Given the description of an element on the screen output the (x, y) to click on. 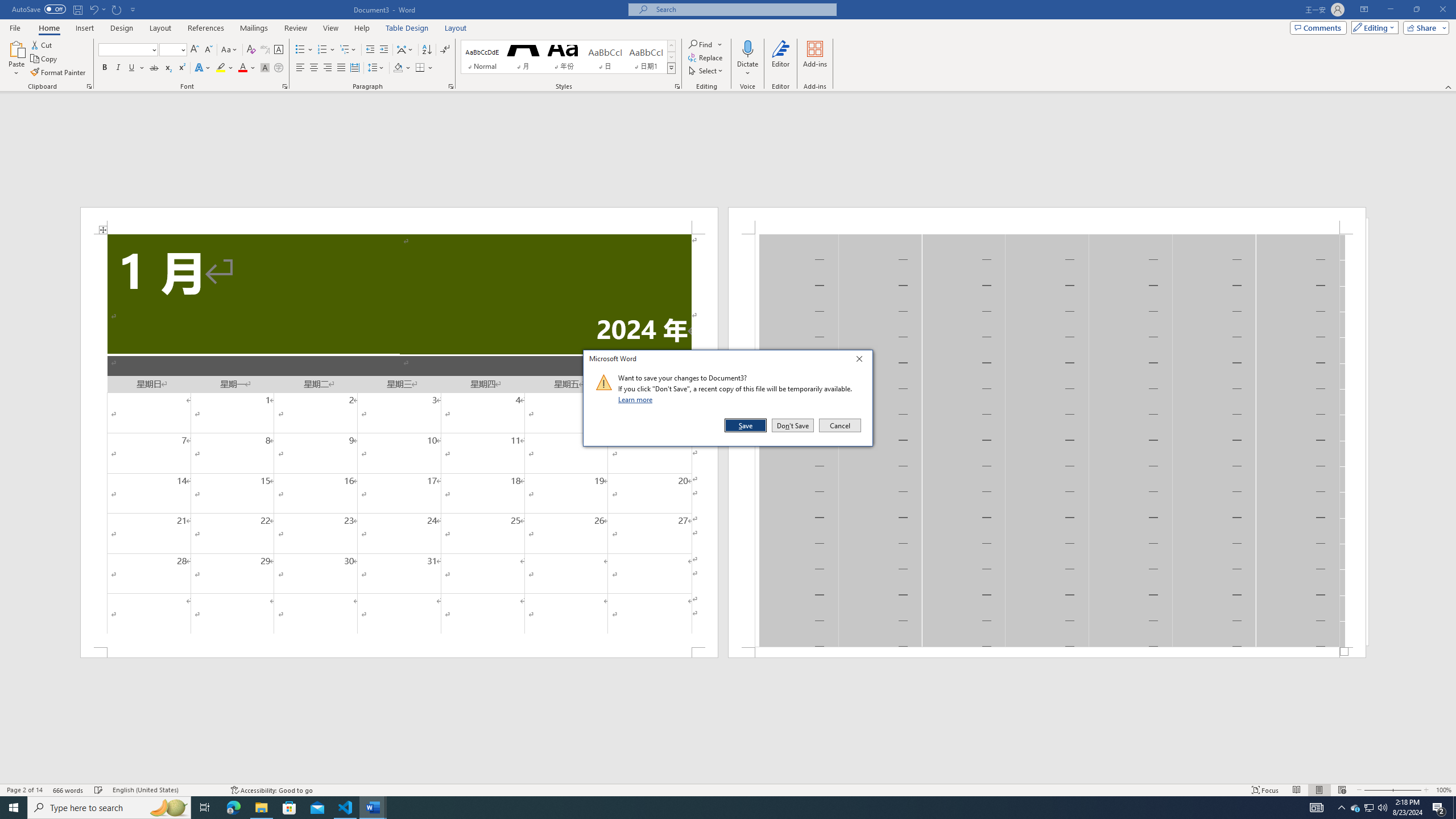
Show desktop (1454, 807)
Task View (204, 807)
Office Clipboard... (88, 85)
Type here to search (108, 807)
Accessibility Checker Accessibility: Good to go (271, 790)
